Given the description of an element on the screen output the (x, y) to click on. 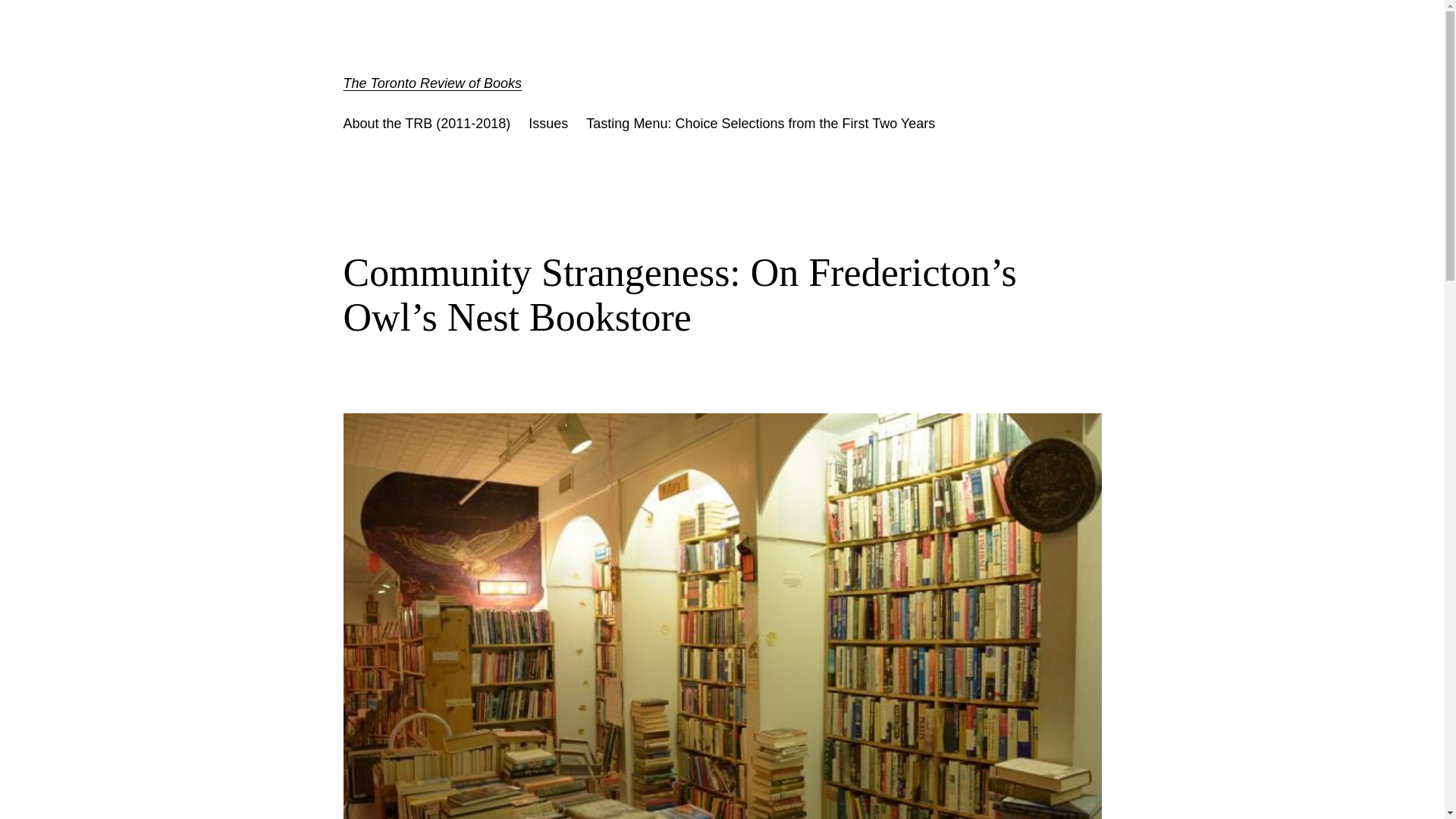
The Toronto Review of Books (431, 83)
Issues (547, 124)
Tasting Menu: Choice Selections from the First Two Years (760, 124)
